Given the description of an element on the screen output the (x, y) to click on. 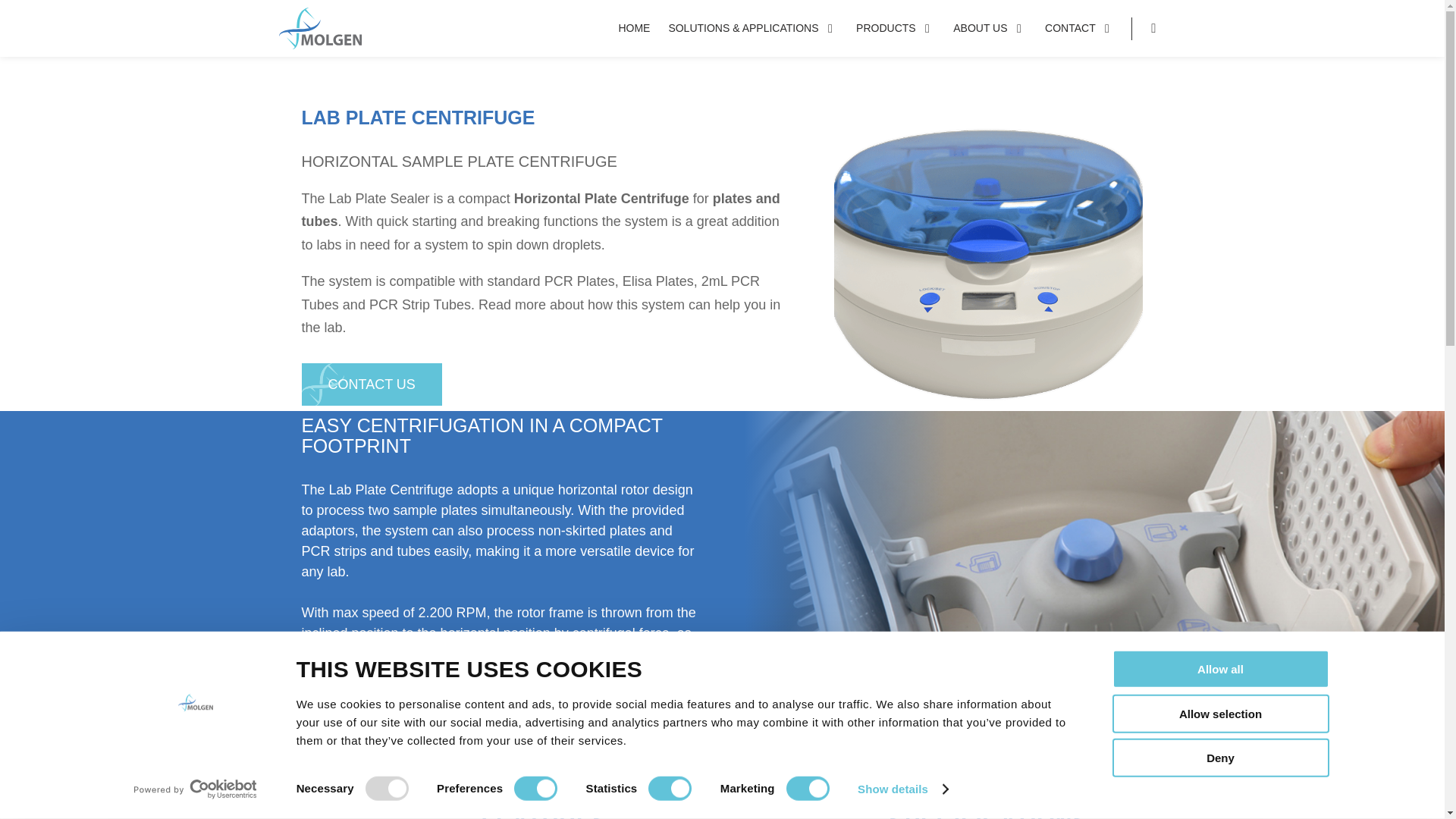
Deny (1219, 757)
Allow selection (1219, 712)
Show details (902, 789)
